Given the description of an element on the screen output the (x, y) to click on. 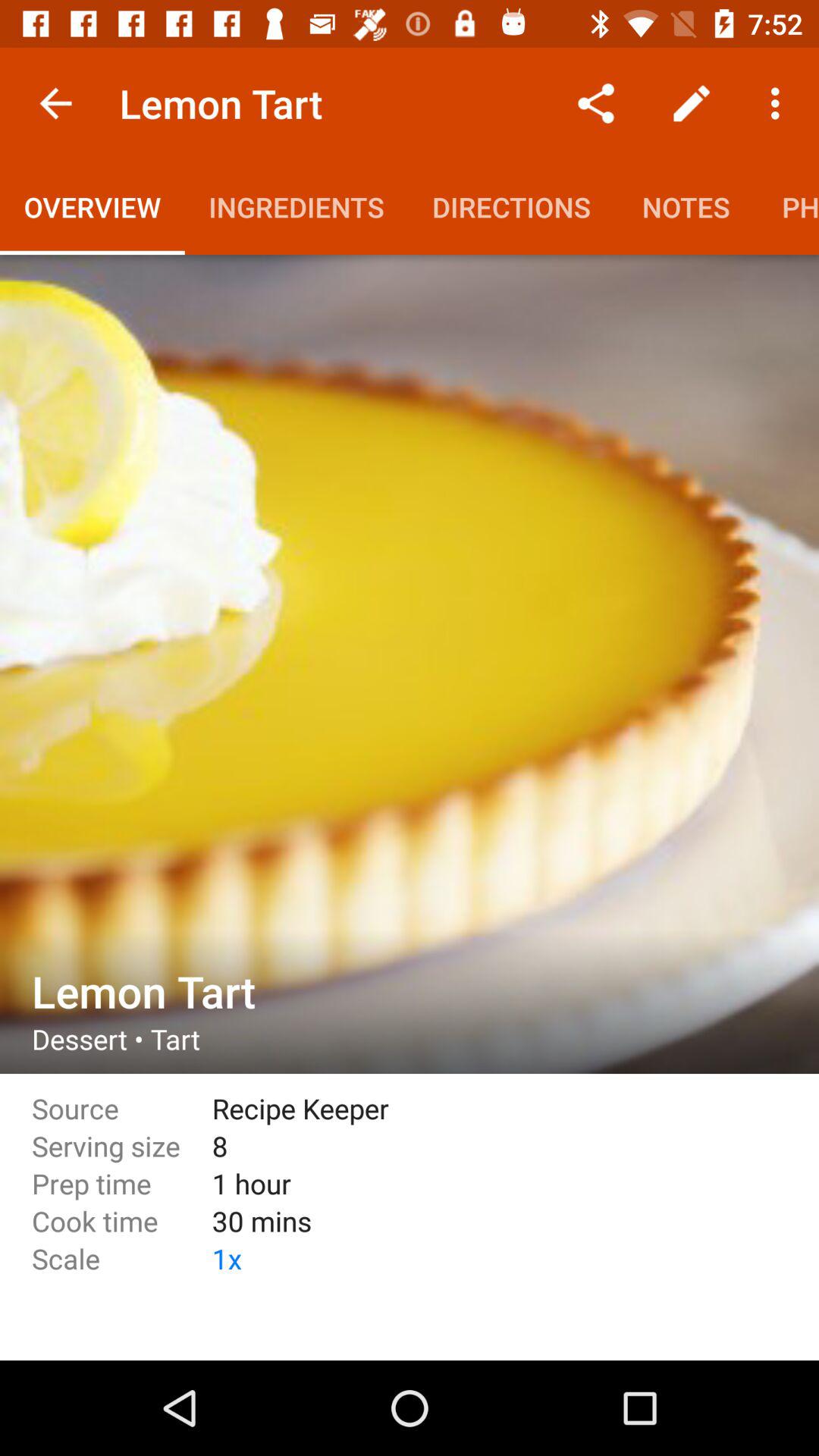
select item above overview icon (55, 103)
